Given the description of an element on the screen output the (x, y) to click on. 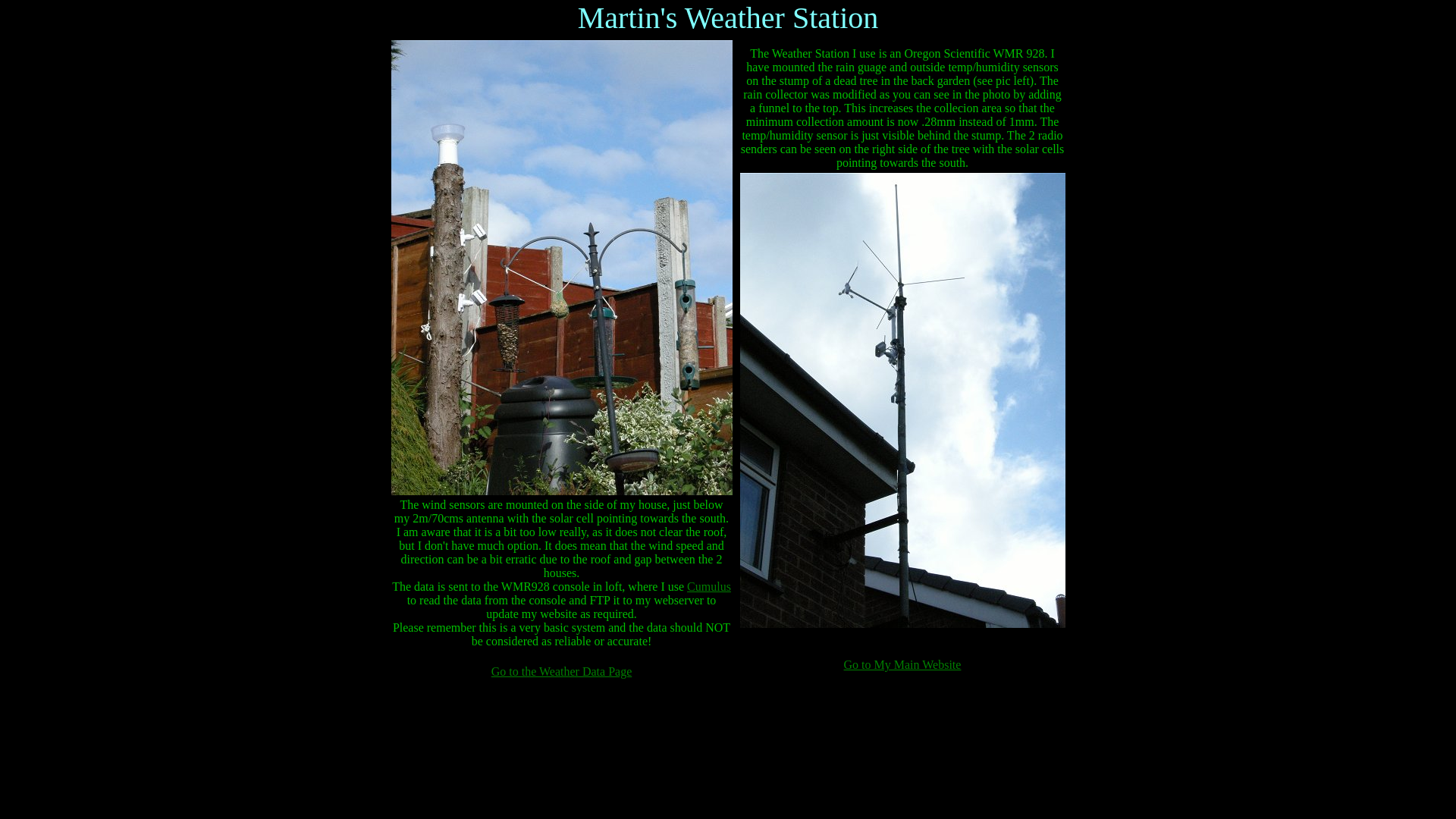
Cumulus (708, 585)
Go to the Weather Data Page (561, 671)
Go to My Main Website (902, 664)
